Given the description of an element on the screen output the (x, y) to click on. 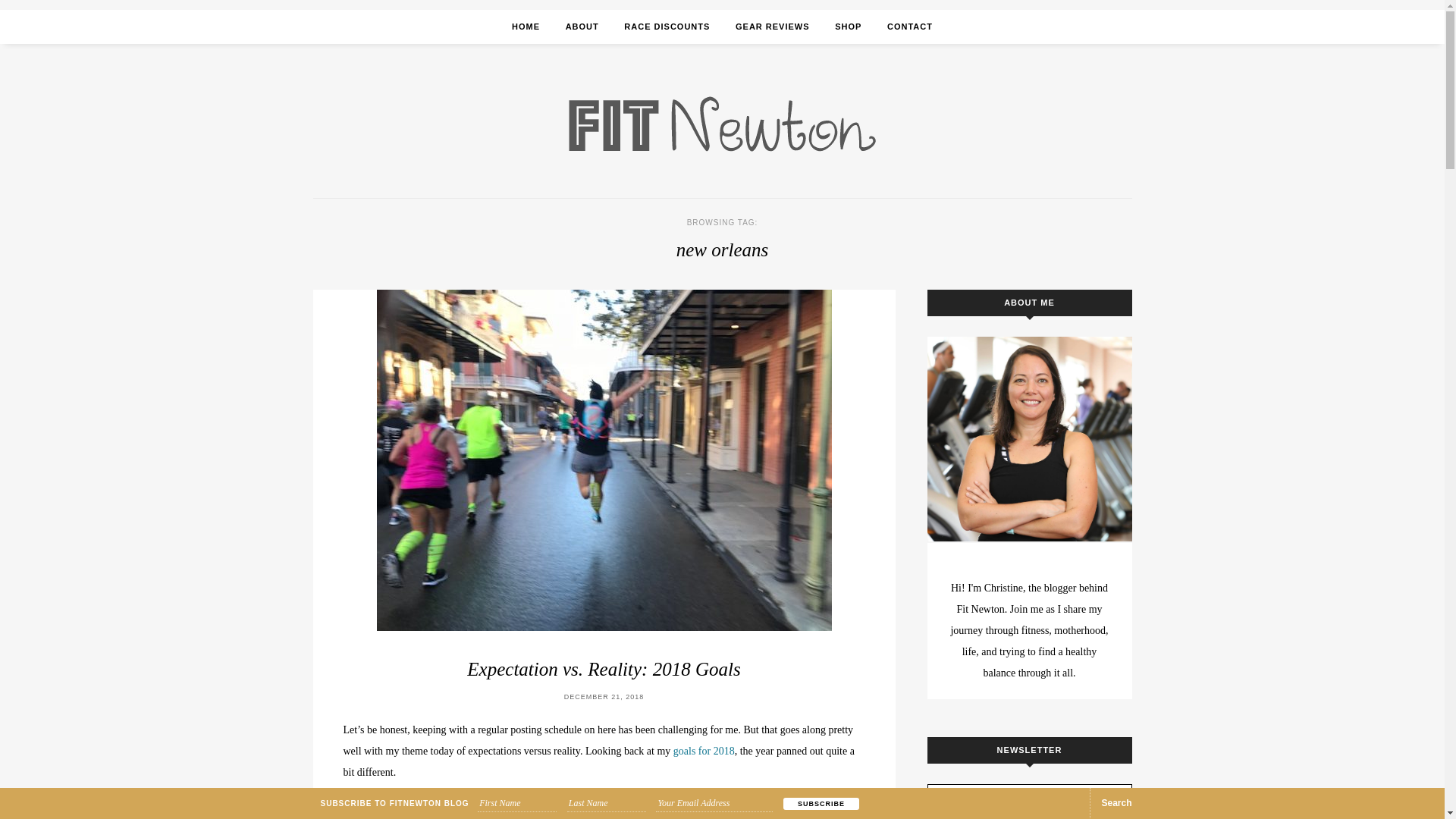
ABOUT (582, 26)
RACE DISCOUNTS (667, 26)
CONTACT (909, 26)
Expectation vs. Reality: 2018 Goals (603, 669)
goals for 2018 (703, 750)
Subscribe (821, 803)
GEAR REVIEWS (772, 26)
